Given the description of an element on the screen output the (x, y) to click on. 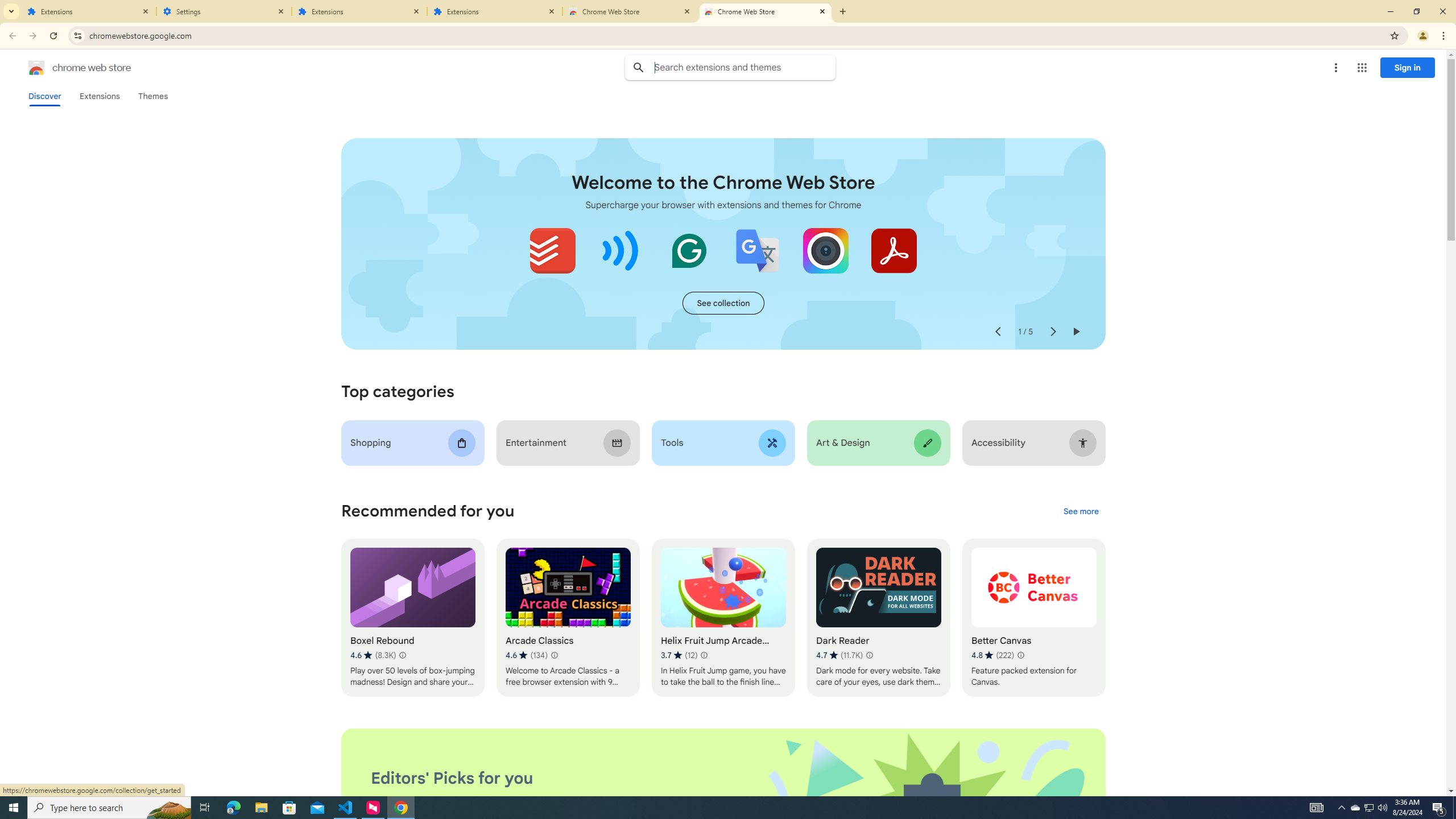
See more personalized recommendations (1080, 511)
Next slide (1052, 331)
Learn more about results and reviews "Boxel Rebound" (402, 655)
Average rating 4.6 out of 5 stars. 134 ratings. (526, 655)
Arcade Classics (567, 617)
Average rating 4.8 out of 5 stars. 222 ratings. (992, 655)
Awesome Screen Recorder & Screenshot (825, 250)
Learn more about results and reviews "Better Canvas" (1019, 655)
Average rating 4.7 out of 5 stars. 11.7K ratings. (839, 655)
Chrome Web Store logo chrome web store (67, 67)
Todoist for Chrome (552, 250)
Shopping (412, 443)
Discover (43, 95)
